Given the description of an element on the screen output the (x, y) to click on. 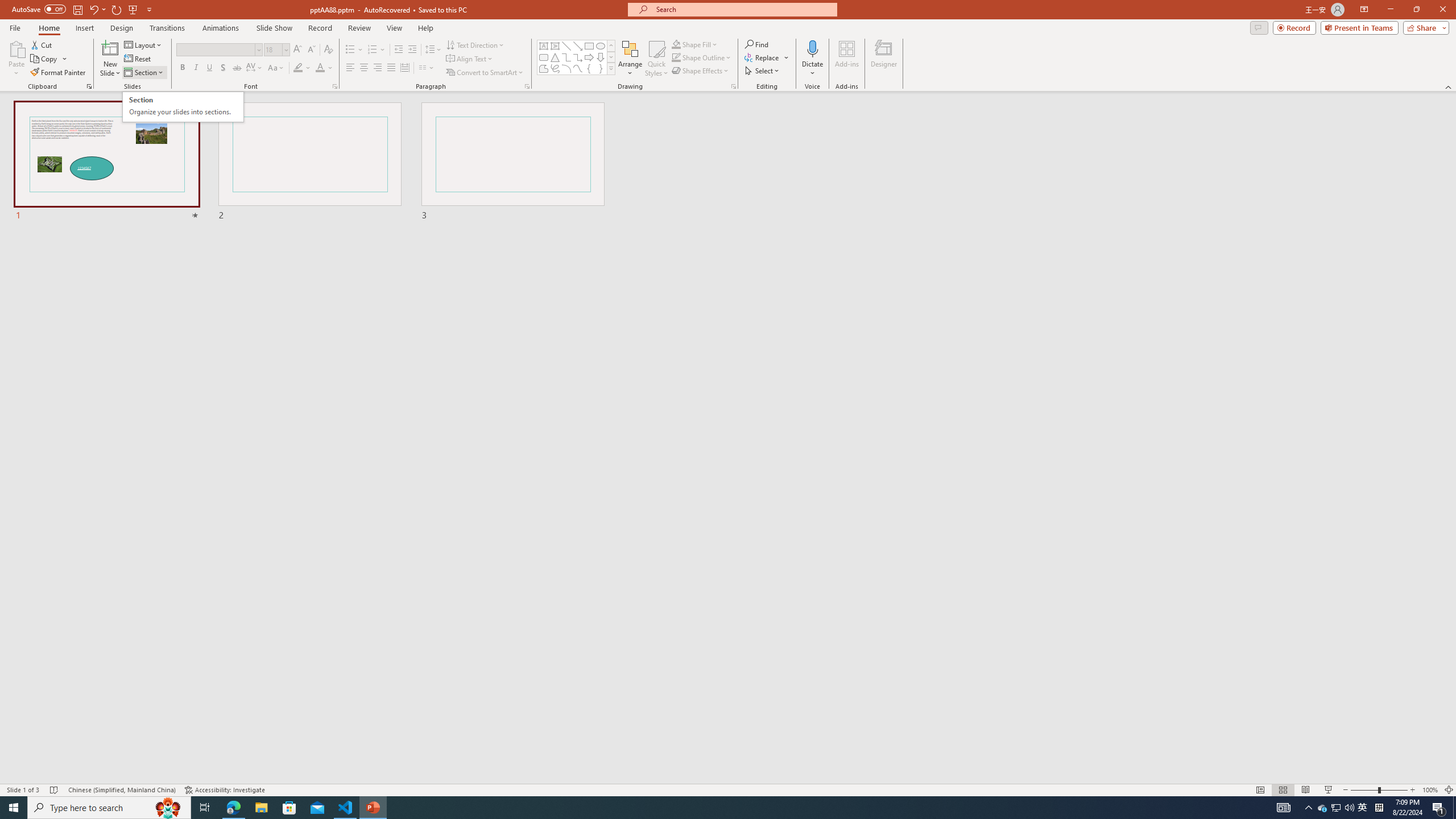
Zoom 100% (1430, 790)
